Given the description of an element on the screen output the (x, y) to click on. 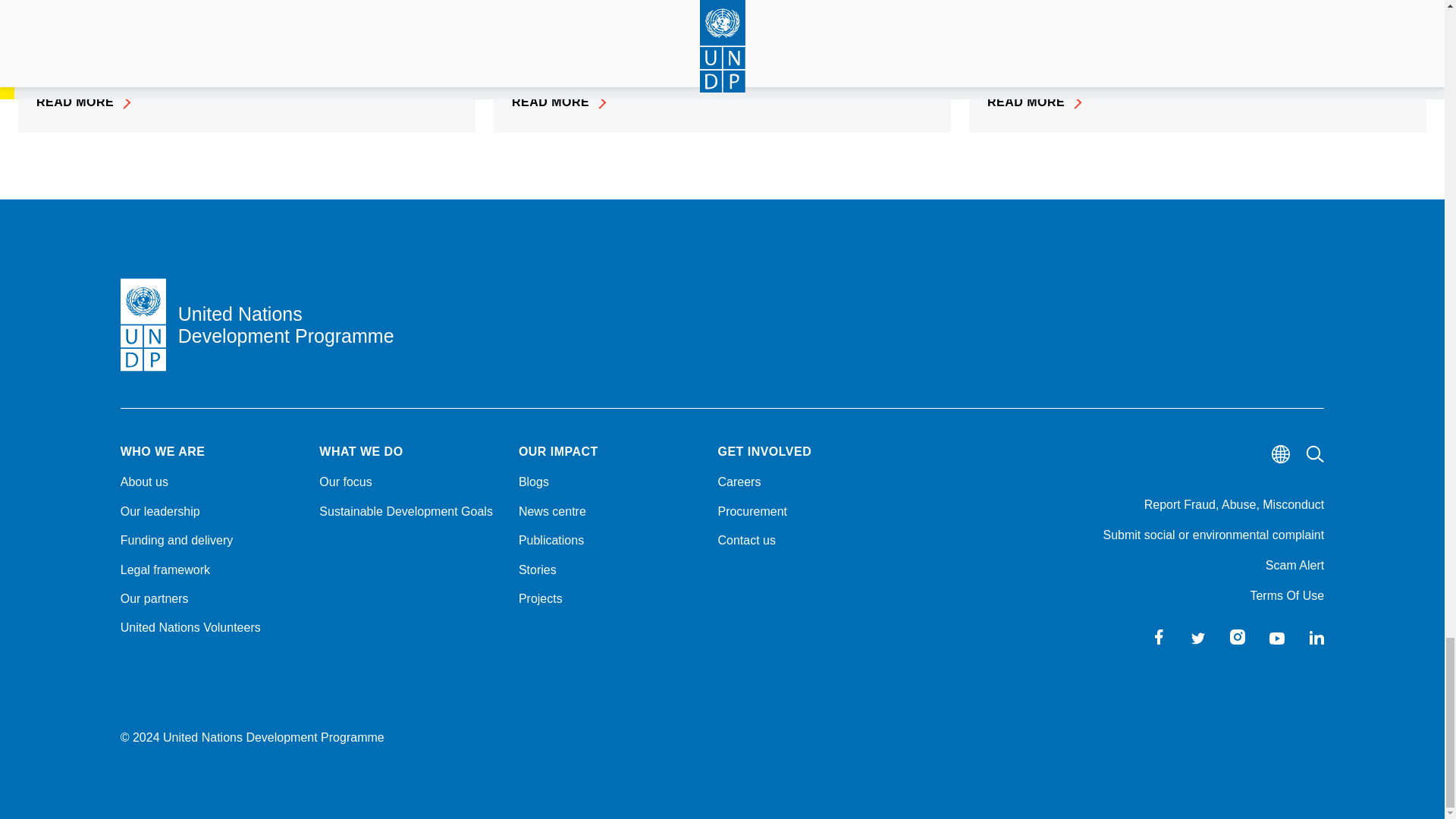
Funding and delivery (210, 540)
Twitter (1198, 636)
About us (210, 482)
Our partners (210, 598)
Our focus (409, 482)
LinkedIn (1315, 636)
Youtube (1276, 636)
Instagram (1237, 636)
Facebook (1158, 636)
Our leadership (210, 511)
